Given the description of an element on the screen output the (x, y) to click on. 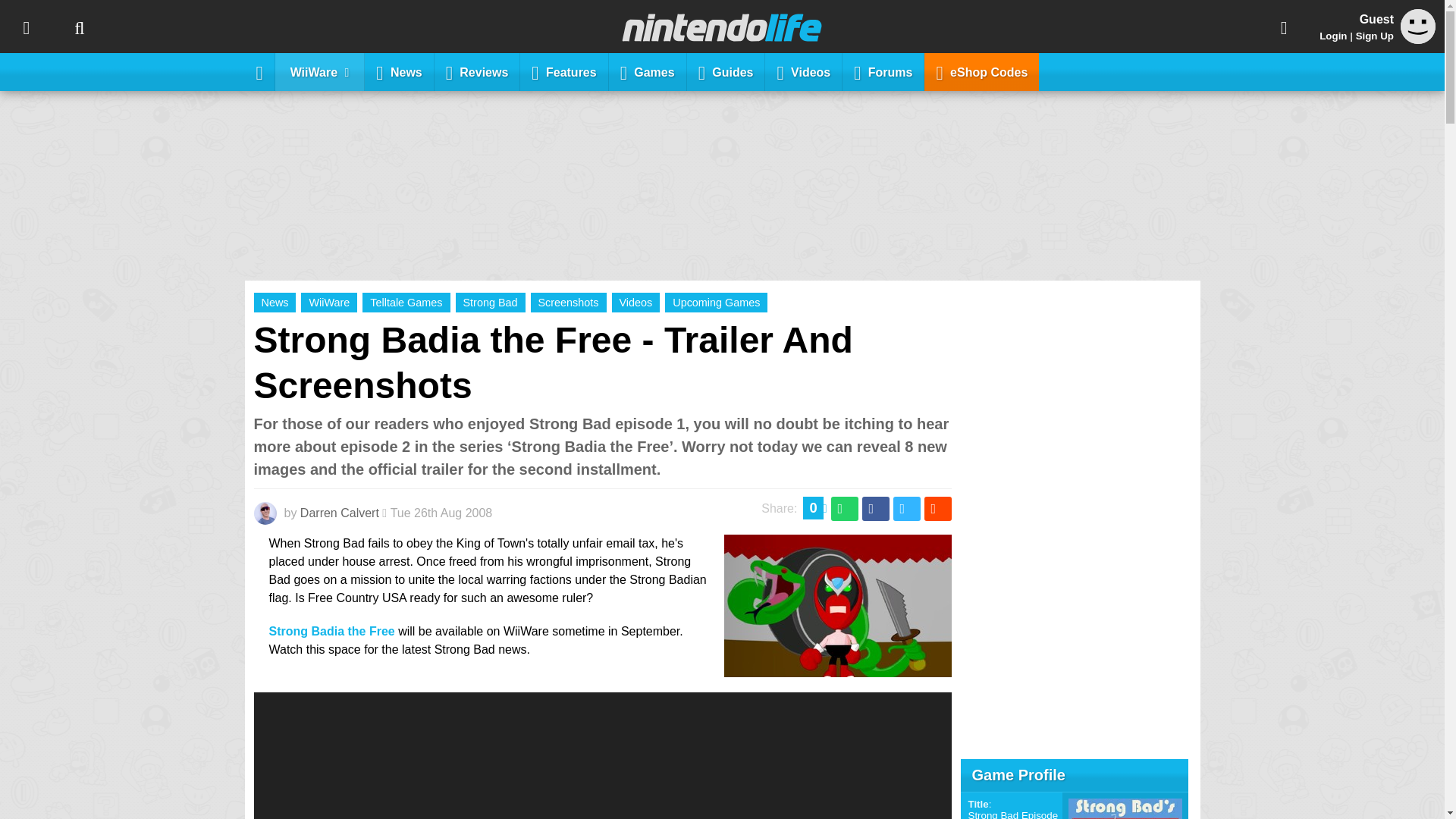
Login (1332, 35)
Forums (883, 71)
Guest (1417, 39)
WiiWare (320, 71)
Games (647, 71)
Home (259, 71)
Nintendo Life (721, 27)
Videos (804, 71)
Sign Up (1374, 35)
eShop Codes (981, 71)
Topics (26, 26)
Share This Page (1283, 26)
Search (79, 26)
Guides (726, 71)
Nintendo Life (721, 27)
